Given the description of an element on the screen output the (x, y) to click on. 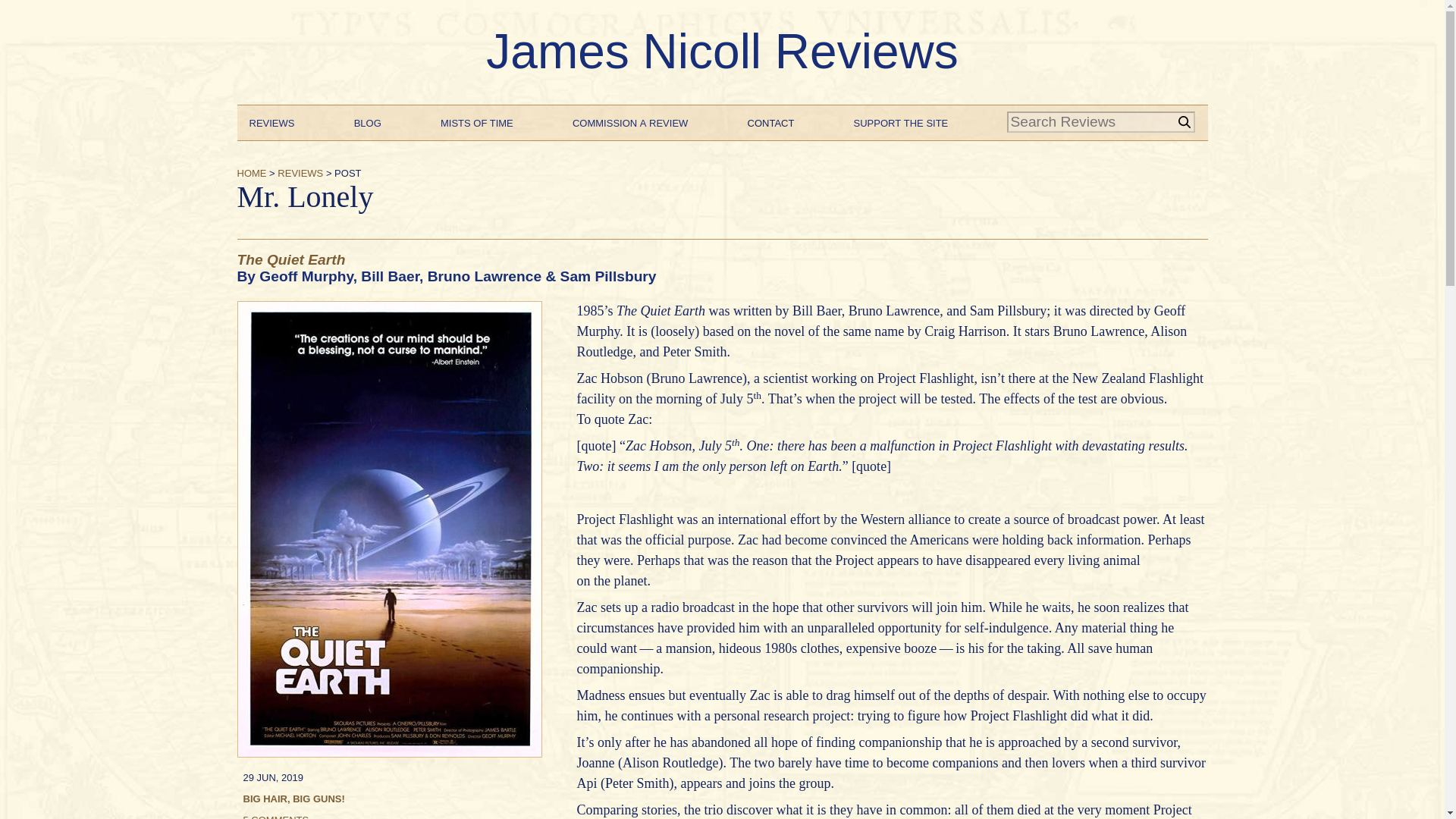
Big Hair, Big Guns! (293, 797)
Blog (367, 121)
Reviews (271, 121)
5 comments (275, 815)
James Nicoll Reviews (722, 51)
Mists of Time (477, 121)
Support the Site (901, 121)
Commission a Review (629, 121)
Home (250, 171)
Reviews (300, 171)
